Given the description of an element on the screen output the (x, y) to click on. 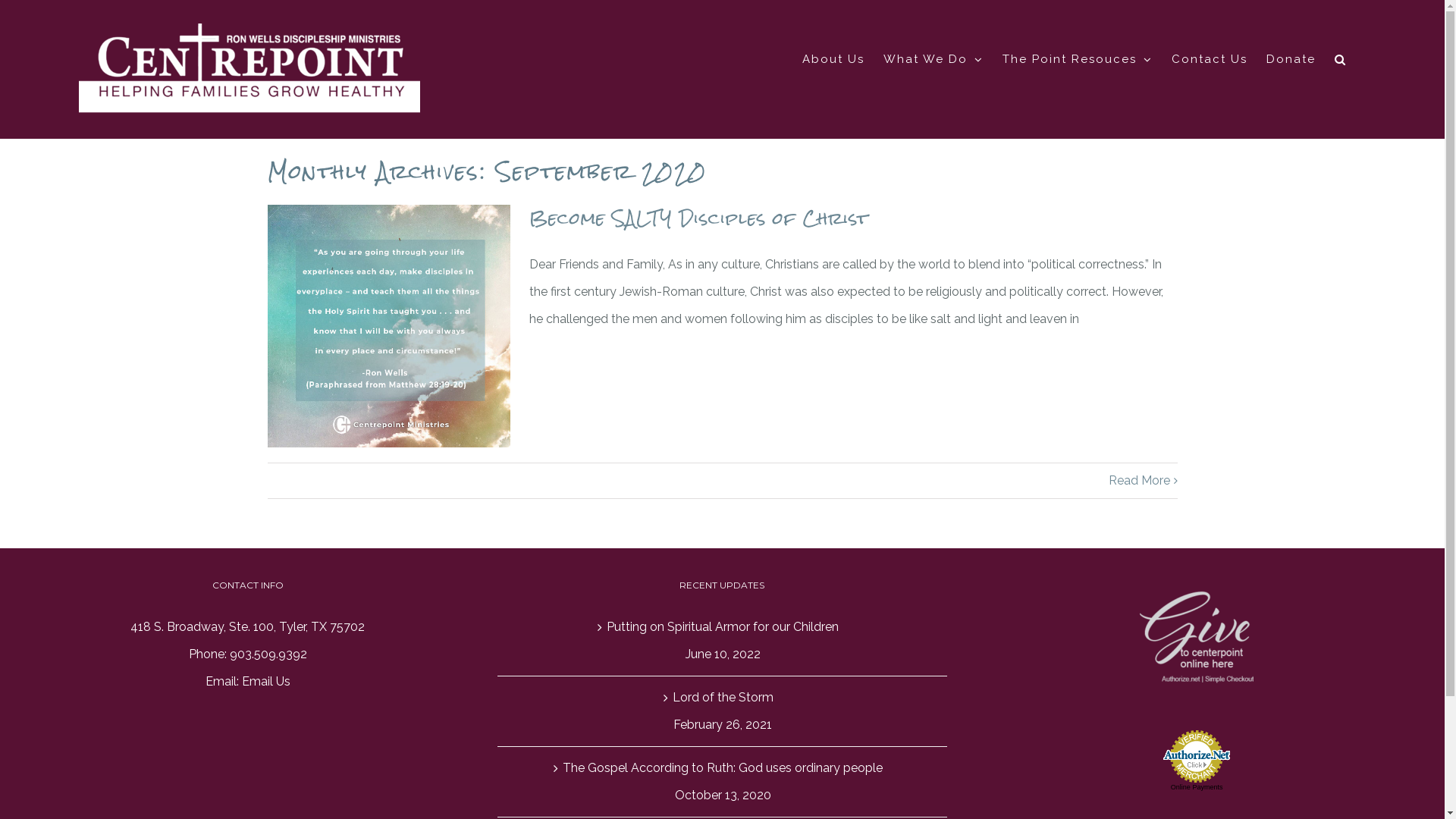
The Point Resouces Element type: text (1077, 58)
Contact Us Element type: text (1209, 58)
Search Element type: hover (1340, 58)
903.509.9392 Element type: text (268, 653)
Become SALTY Disciples of Christ Element type: text (698, 217)
Donate Element type: text (1290, 58)
Email Us Element type: text (265, 681)
Read More Element type: text (1139, 480)
Online Payments Element type: text (1196, 786)
About Us Element type: text (833, 58)
Putting on Spiritual Armor for our Children Element type: text (723, 626)
The Gospel According to Ruth: God uses ordinary people Element type: text (723, 767)
What We Do Element type: text (933, 58)
Lord of the Storm Element type: text (723, 697)
